Given the description of an element on the screen output the (x, y) to click on. 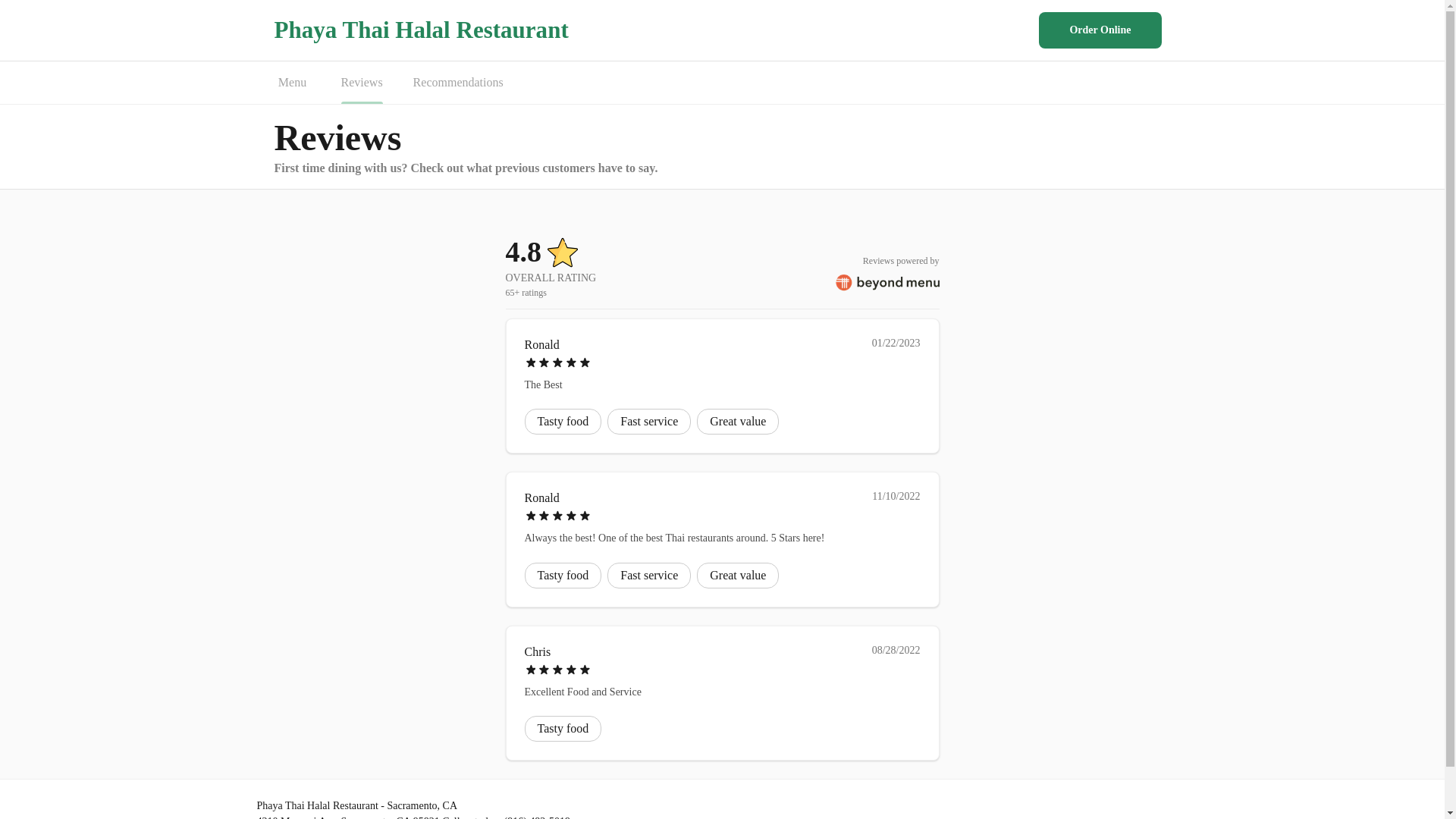
Recommendations (458, 83)
Reviews (361, 83)
Order Online (1099, 30)
Recommendations (458, 82)
Phaya Thai Halal Restaurant (422, 29)
4310 Marconi Ave, Sacramento, CA 95821 (347, 817)
